Given the description of an element on the screen output the (x, y) to click on. 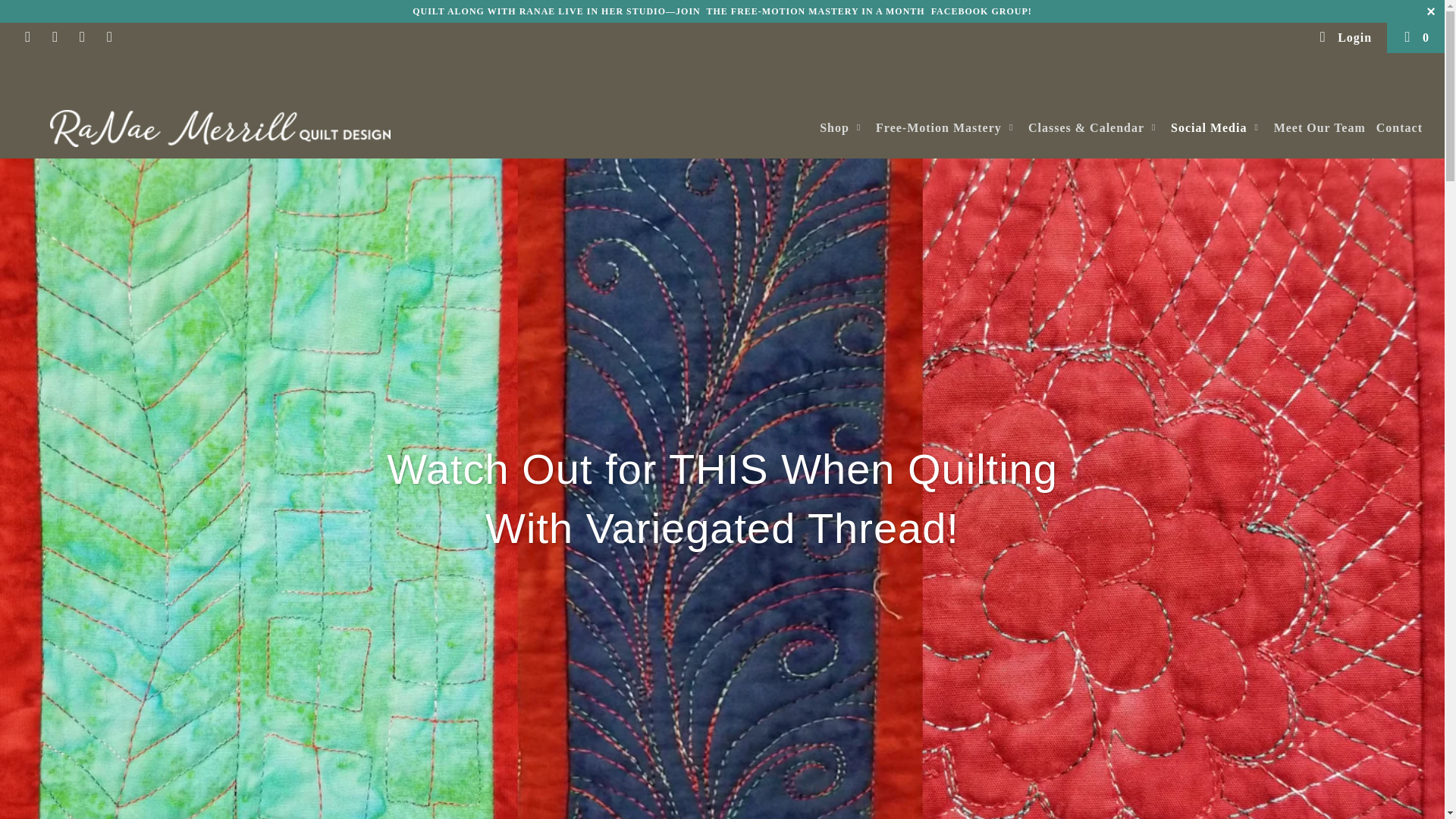
RaNae Merrill Quilt Design on YouTube (54, 37)
RaNae Merrill Quilt Design on Facebook (26, 37)
RaNae Merrill Quilt Design on Pinterest (82, 37)
RaNae Merrill Quilt Design (220, 128)
My Account  (1344, 37)
RaNae Merrill Quilt Design on Instagram (108, 37)
